Given the description of an element on the screen output the (x, y) to click on. 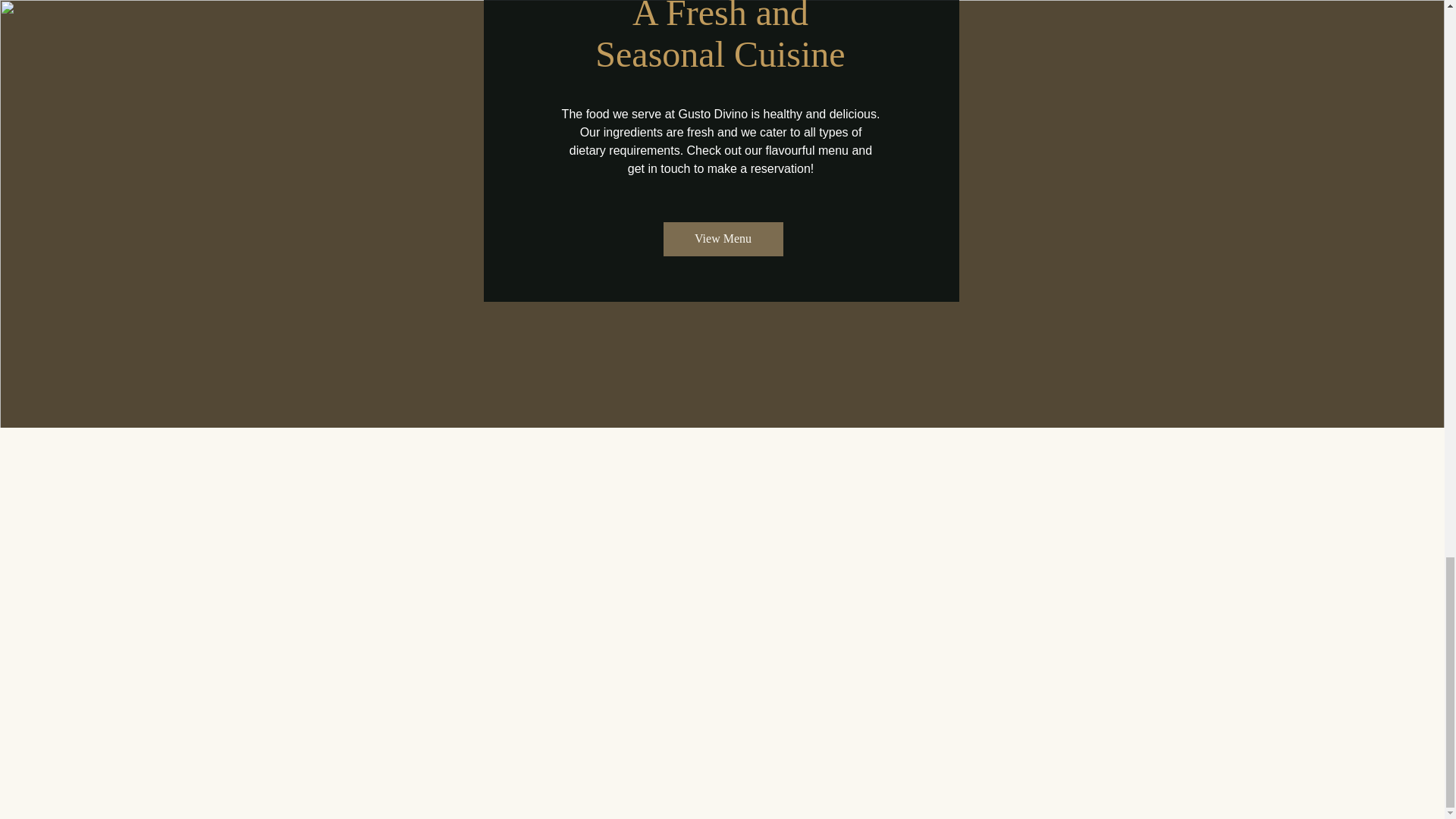
View Menu (722, 238)
